Given the description of an element on the screen output the (x, y) to click on. 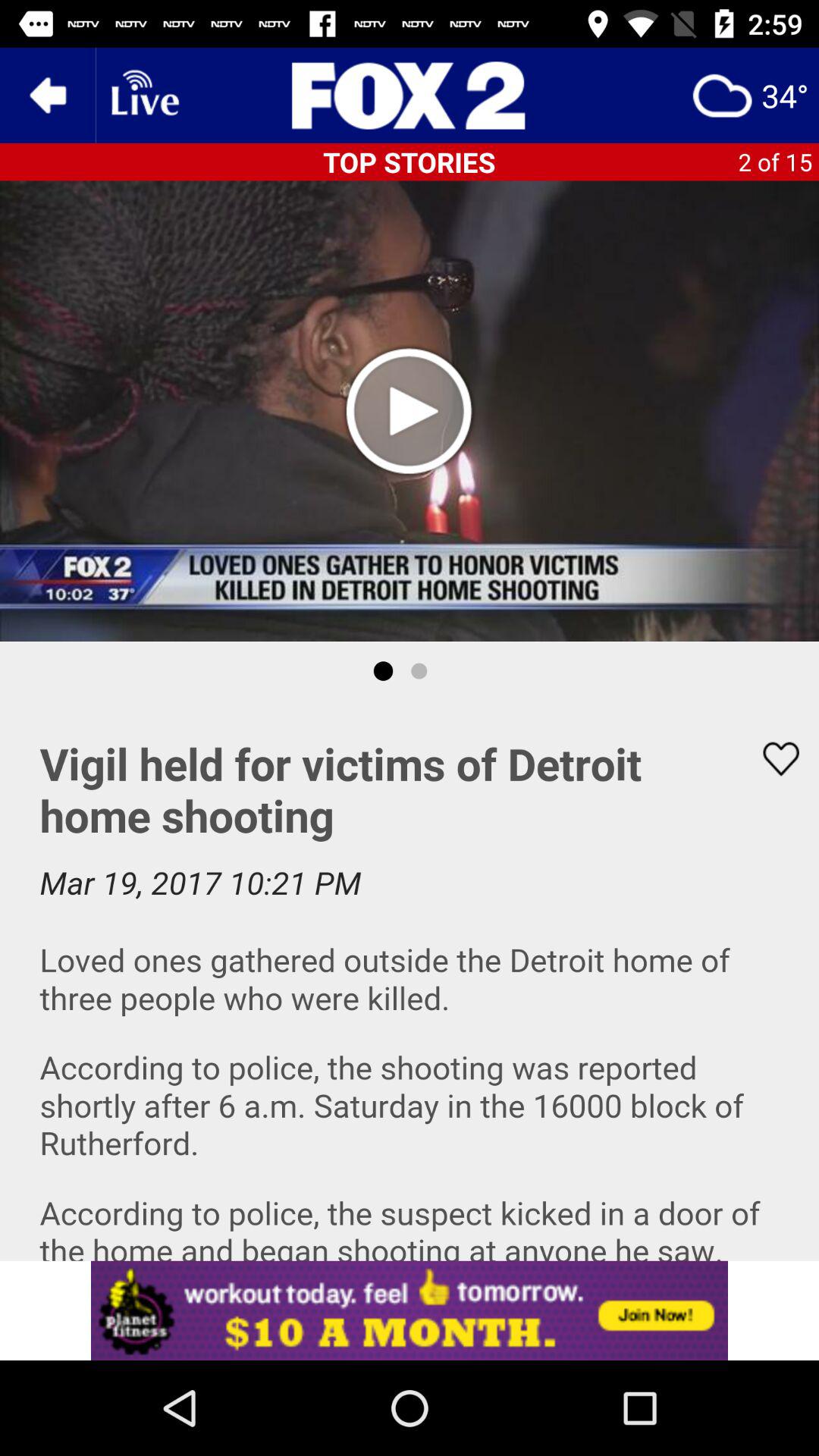
like (771, 758)
